Given the description of an element on the screen output the (x, y) to click on. 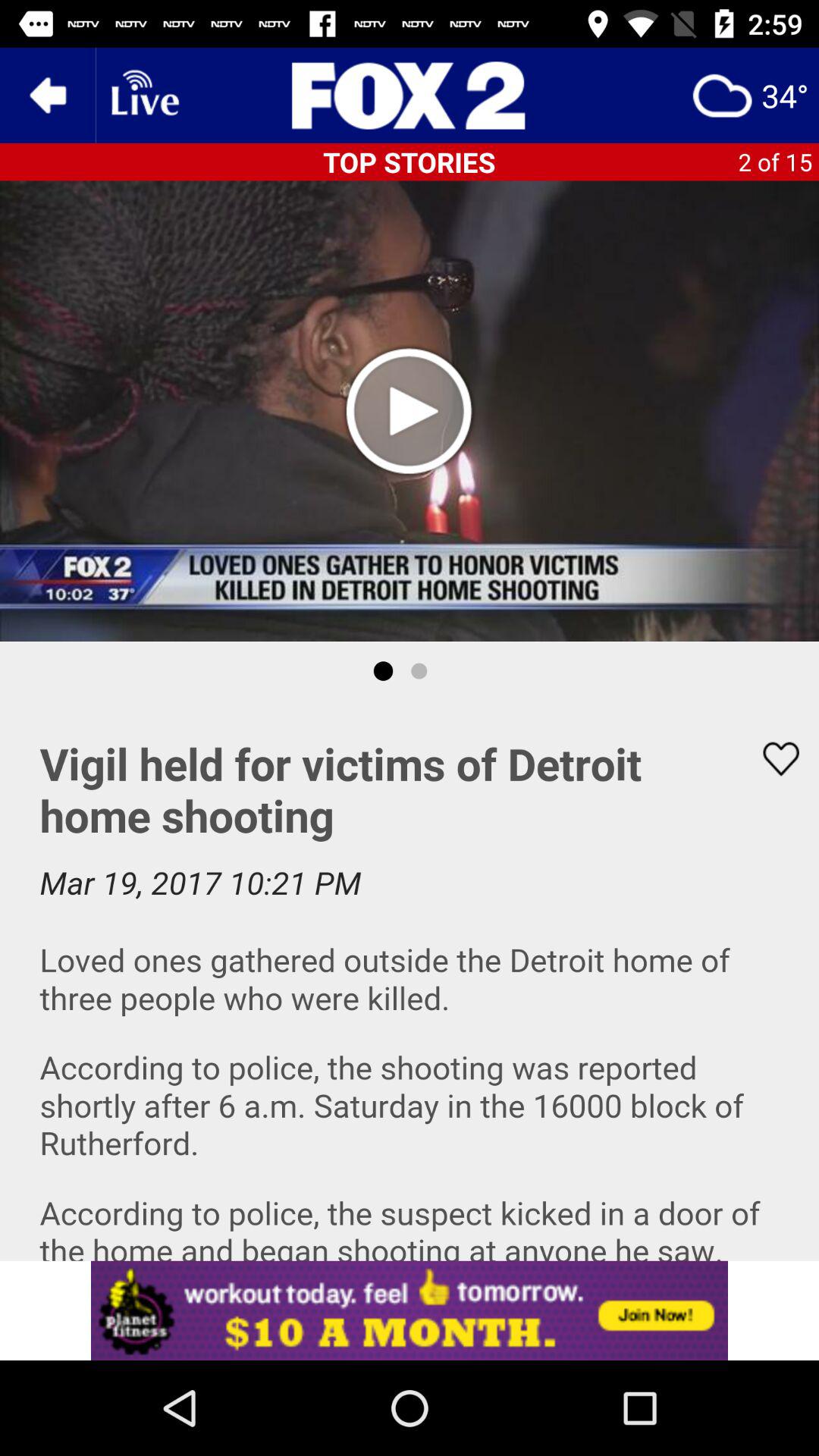
like (771, 758)
